Given the description of an element on the screen output the (x, y) to click on. 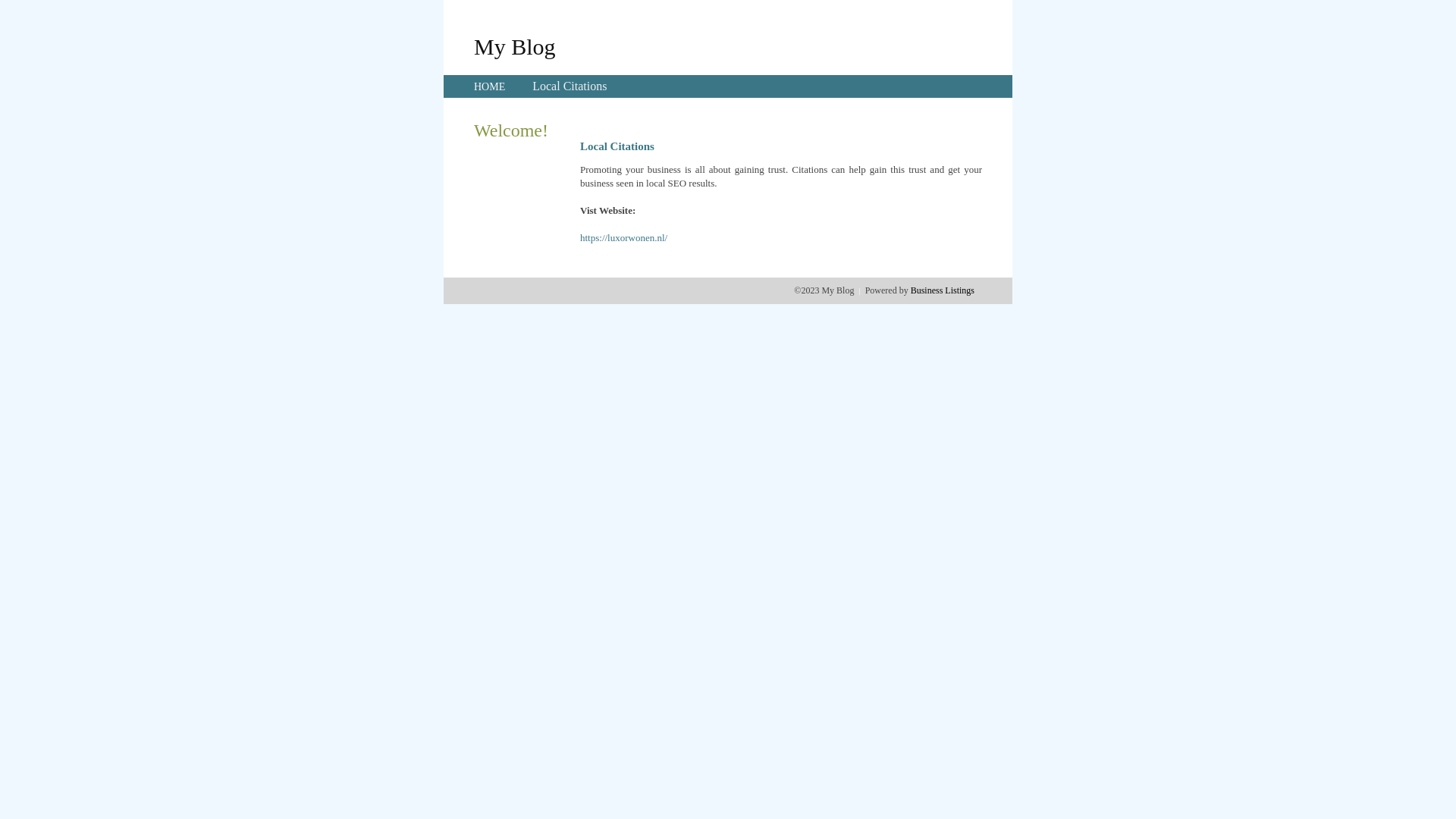
https://luxorwonen.nl/ Element type: text (623, 237)
Business Listings Element type: text (942, 290)
My Blog Element type: text (514, 46)
Local Citations Element type: text (569, 85)
HOME Element type: text (489, 86)
